Given the description of an element on the screen output the (x, y) to click on. 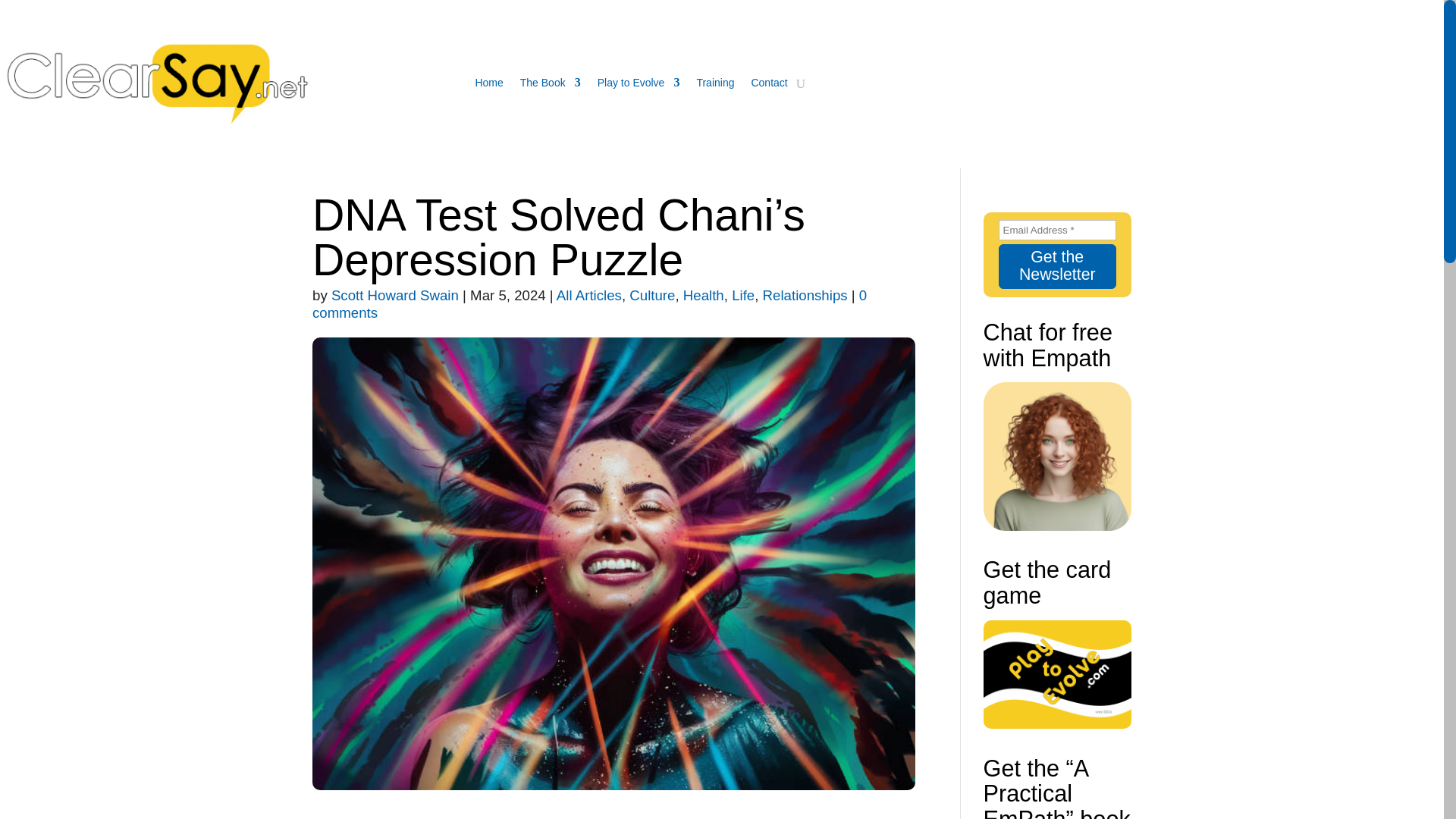
Culture (651, 295)
Relationships (804, 295)
All Articles (588, 295)
Posts by Scott Howard Swain (394, 295)
Get the Newsletter (1057, 266)
Play to Evolve (637, 82)
Get the Newsletter (1057, 266)
Scott Howard Swain (394, 295)
Health (702, 295)
0 comments (589, 303)
Life (743, 295)
Email Address (1057, 230)
